Given the description of an element on the screen output the (x, y) to click on. 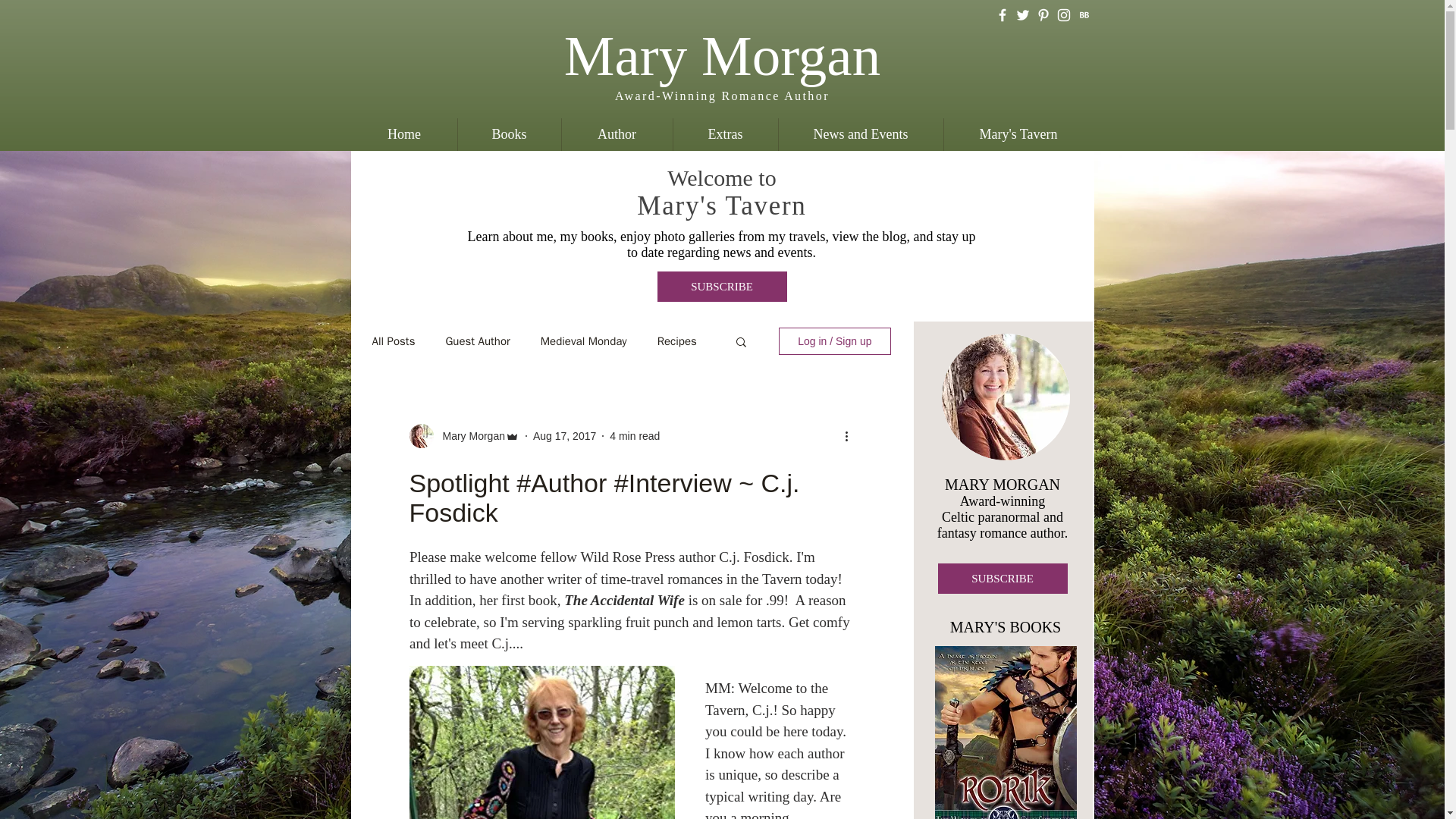
Extras (724, 133)
Guest Author (477, 340)
Mary Morgan (469, 435)
All Posts (392, 340)
Home (404, 133)
4 min read (634, 435)
Recipes (677, 340)
SUBSCRIBE (721, 286)
Mary Morgan (722, 55)
News and Events (860, 133)
Books (508, 133)
Author (616, 133)
Medieval Monday (583, 340)
Aug 17, 2017 (563, 435)
Mary's Tavern (1018, 133)
